Given the description of an element on the screen output the (x, y) to click on. 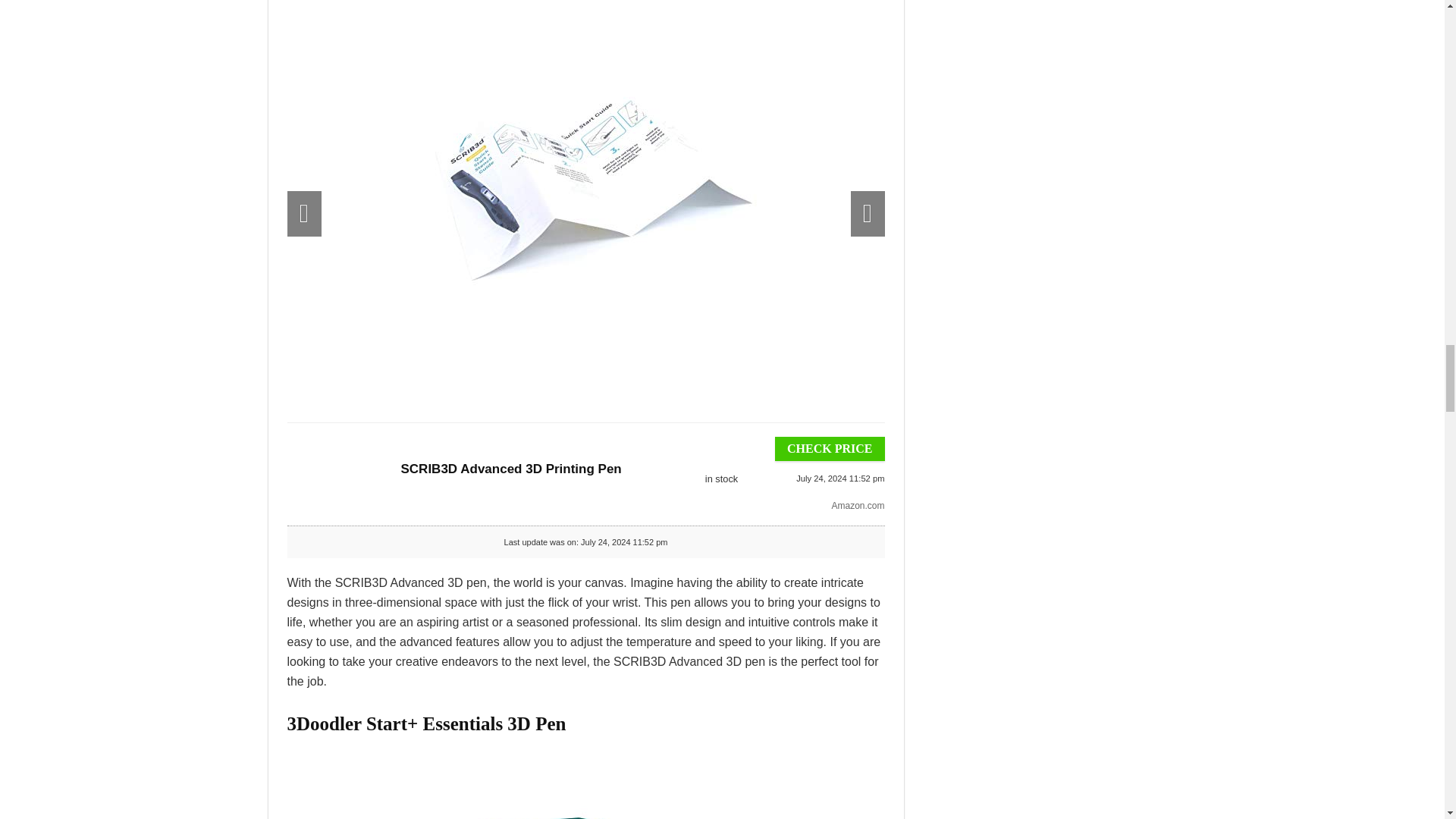
Last update was in: July 24, 2024 11:52 pm (720, 478)
